Given the description of an element on the screen output the (x, y) to click on. 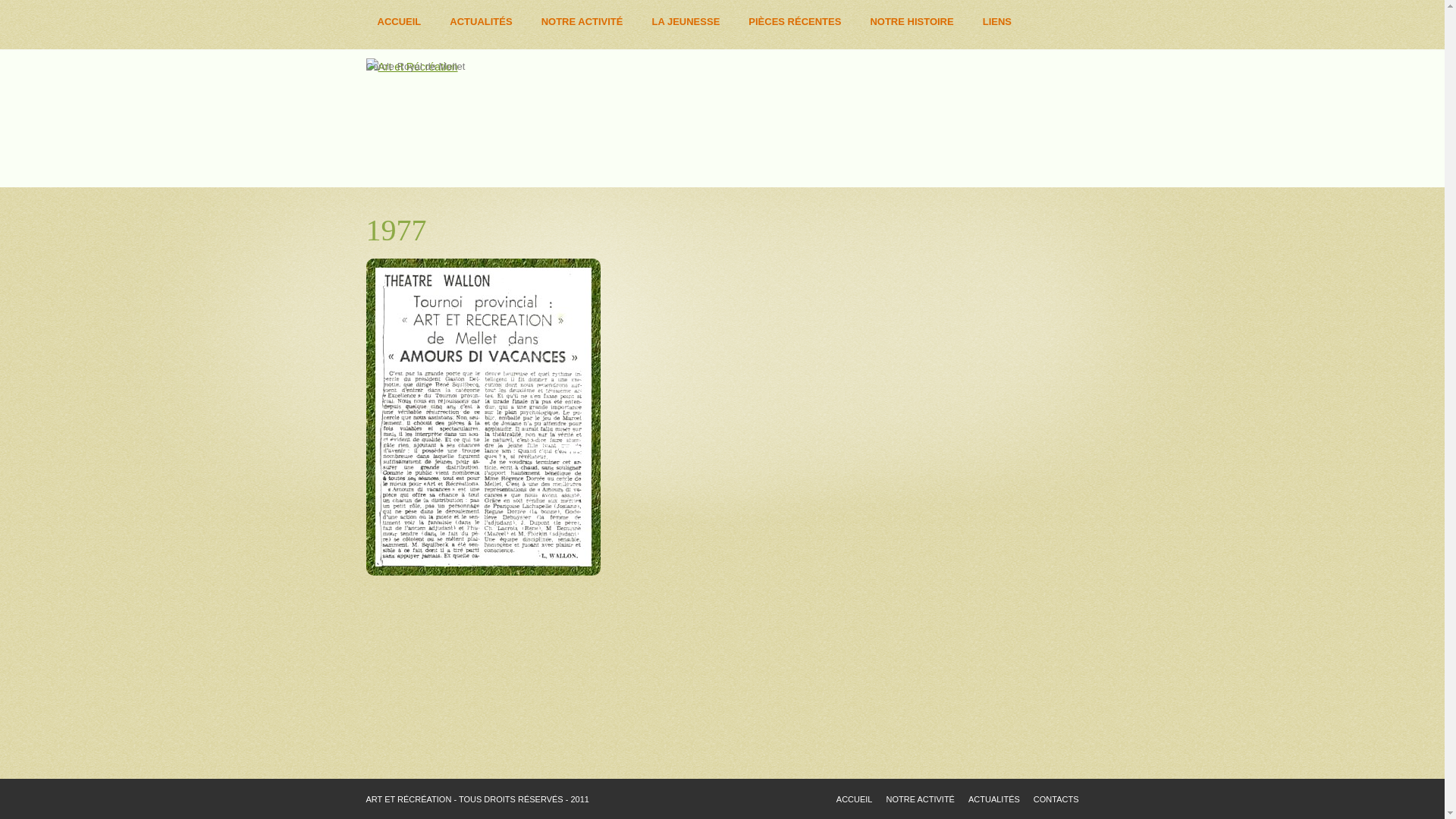
CONTACTS Element type: text (1056, 798)
LA JEUNESSE Element type: text (685, 21)
ACCUEIL Element type: text (398, 21)
NOTRE HISTOIRE Element type: text (911, 21)
Cercle Royal de Mellet Element type: hover (411, 66)
LIENS Element type: text (996, 21)
ACCUEIL Element type: text (854, 798)
